Given the description of an element on the screen output the (x, y) to click on. 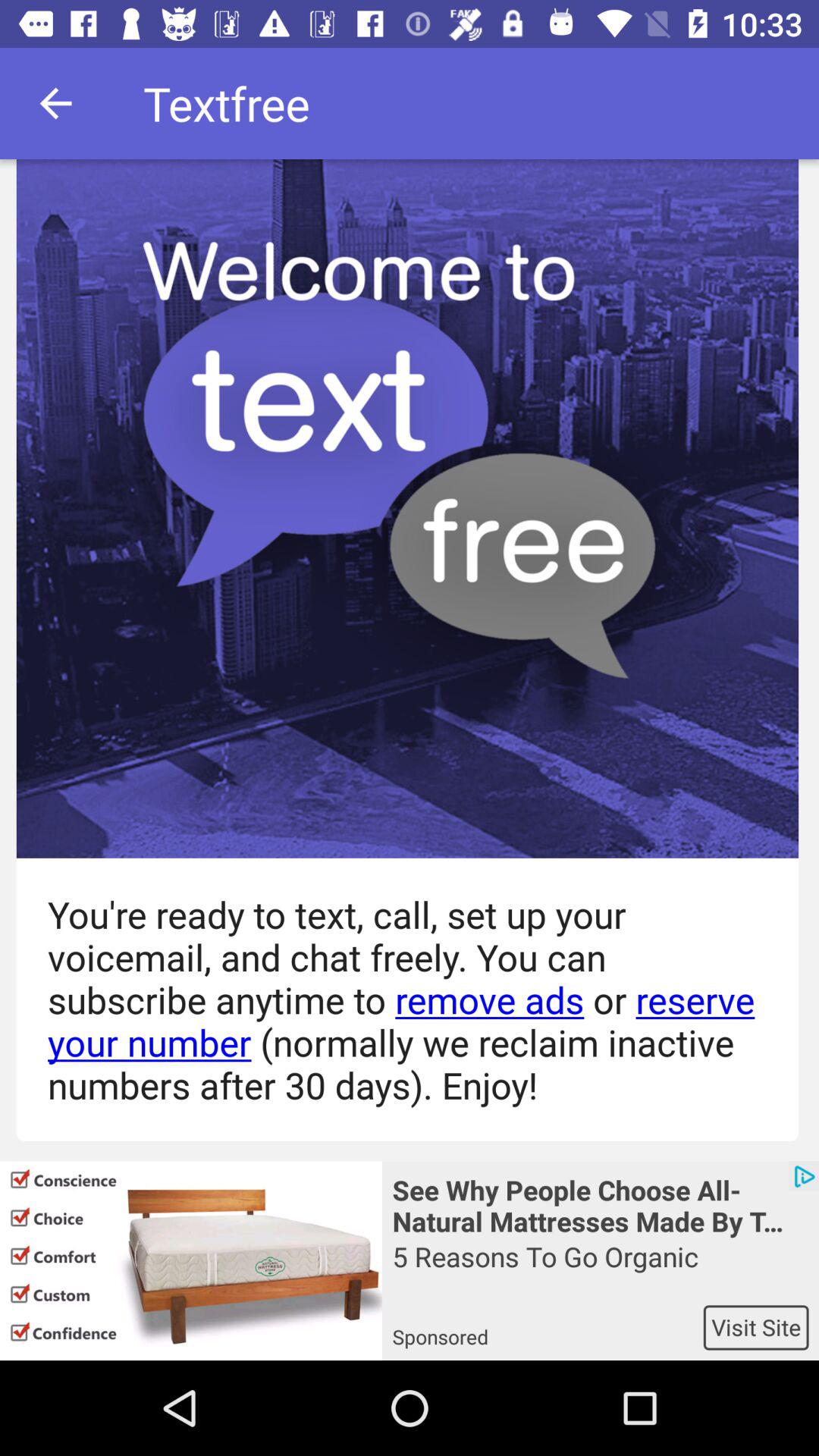
select sponsored app (547, 1327)
